Given the description of an element on the screen output the (x, y) to click on. 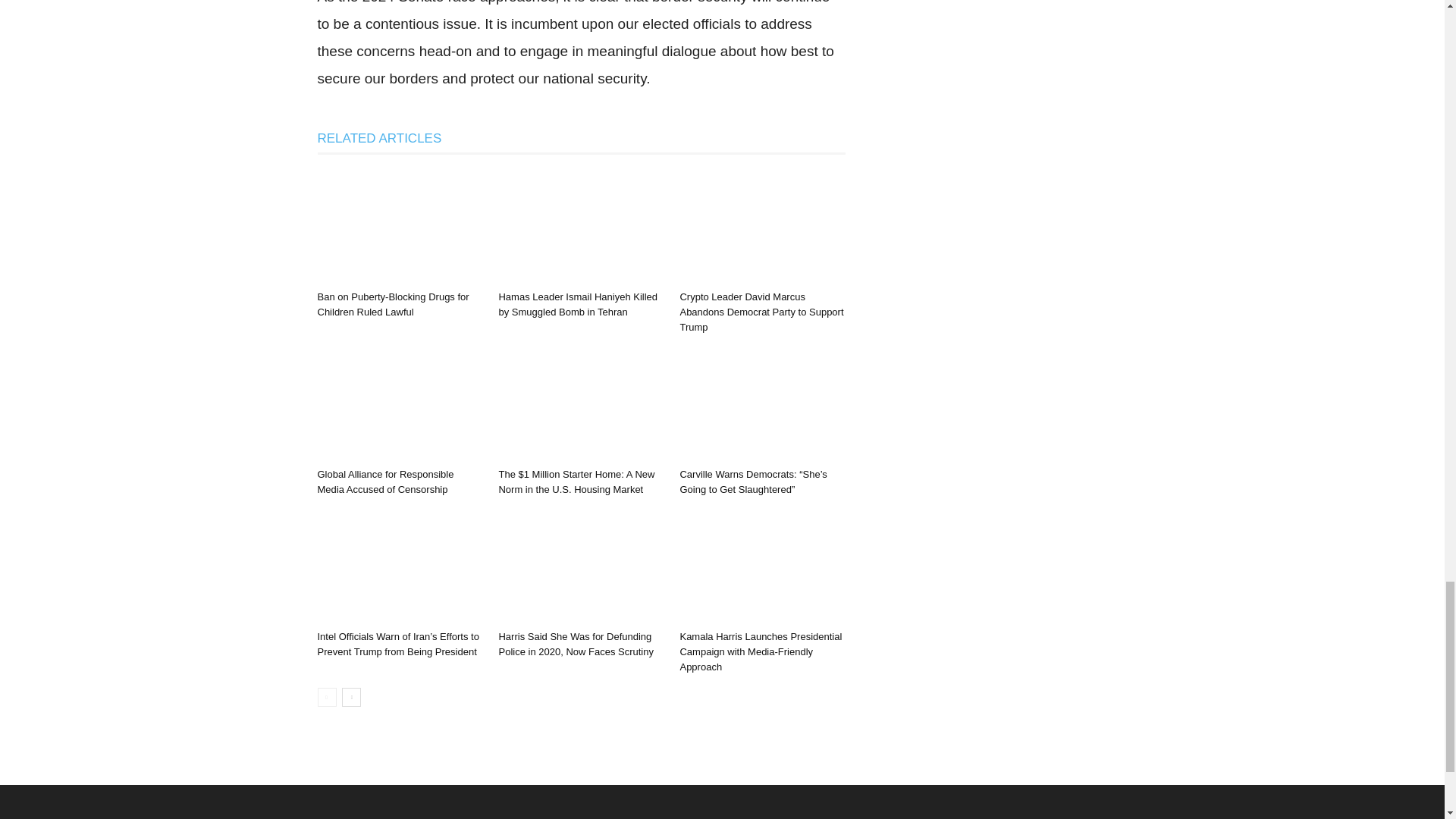
Global Alliance for Responsible Media Accused of Censorship (399, 404)
RELATED ARTICLES (379, 138)
Ban on Puberty-Blocking Drugs for Children Ruled Lawful (399, 227)
Global Alliance for Responsible Media Accused of Censorship (384, 481)
Ban on Puberty-Blocking Drugs for Children Ruled Lawful (392, 304)
Ban on Puberty-Blocking Drugs for Children Ruled Lawful (392, 304)
